Given the description of an element on the screen output the (x, y) to click on. 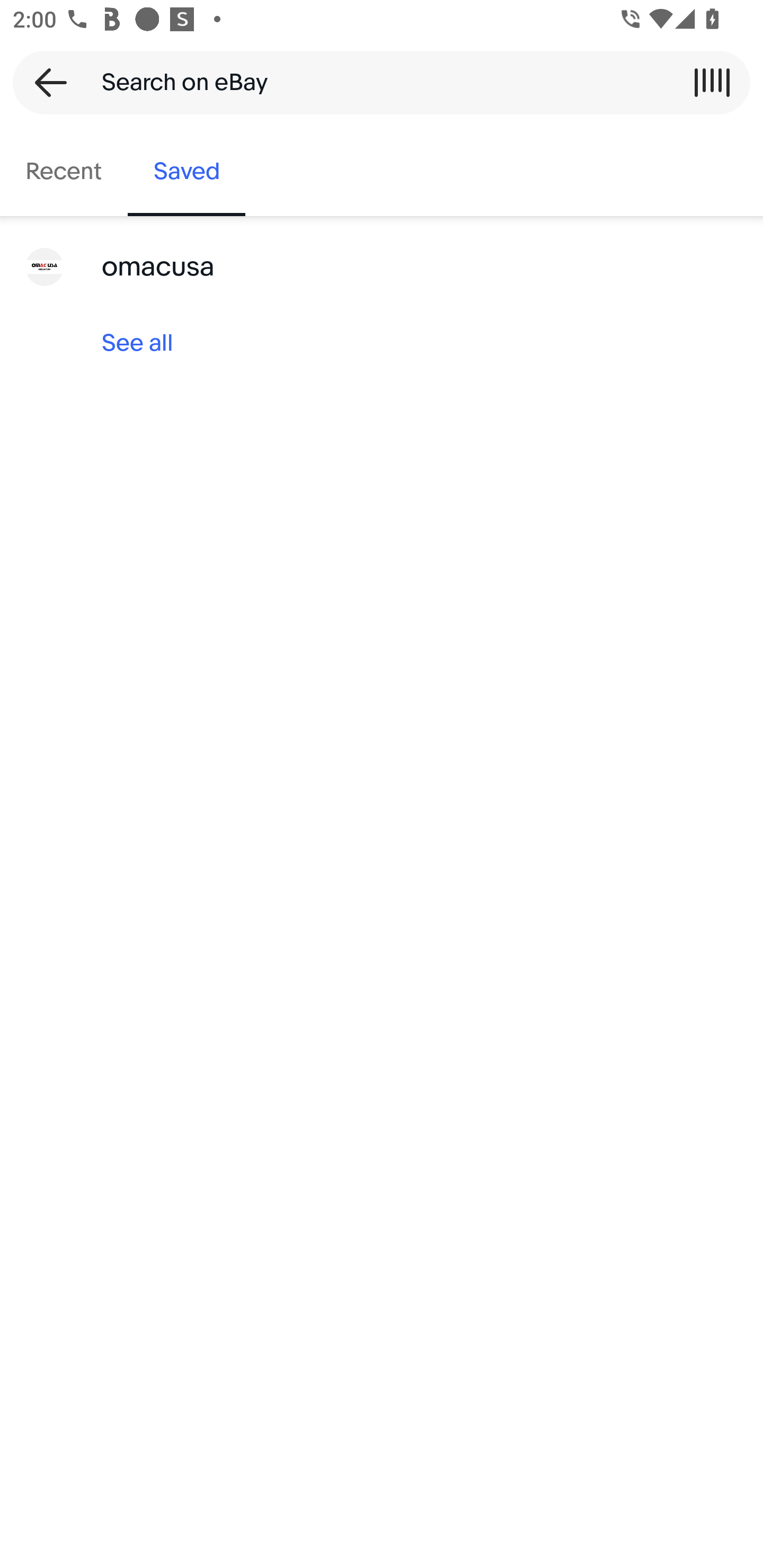
Back (44, 82)
Scan a barcode (711, 82)
Search on eBay (375, 82)
Recent, tab 1 of 2 Recent (63, 171)
User Search omacusa: omacusa (381, 266)
See all See all members (381, 343)
